Given the description of an element on the screen output the (x, y) to click on. 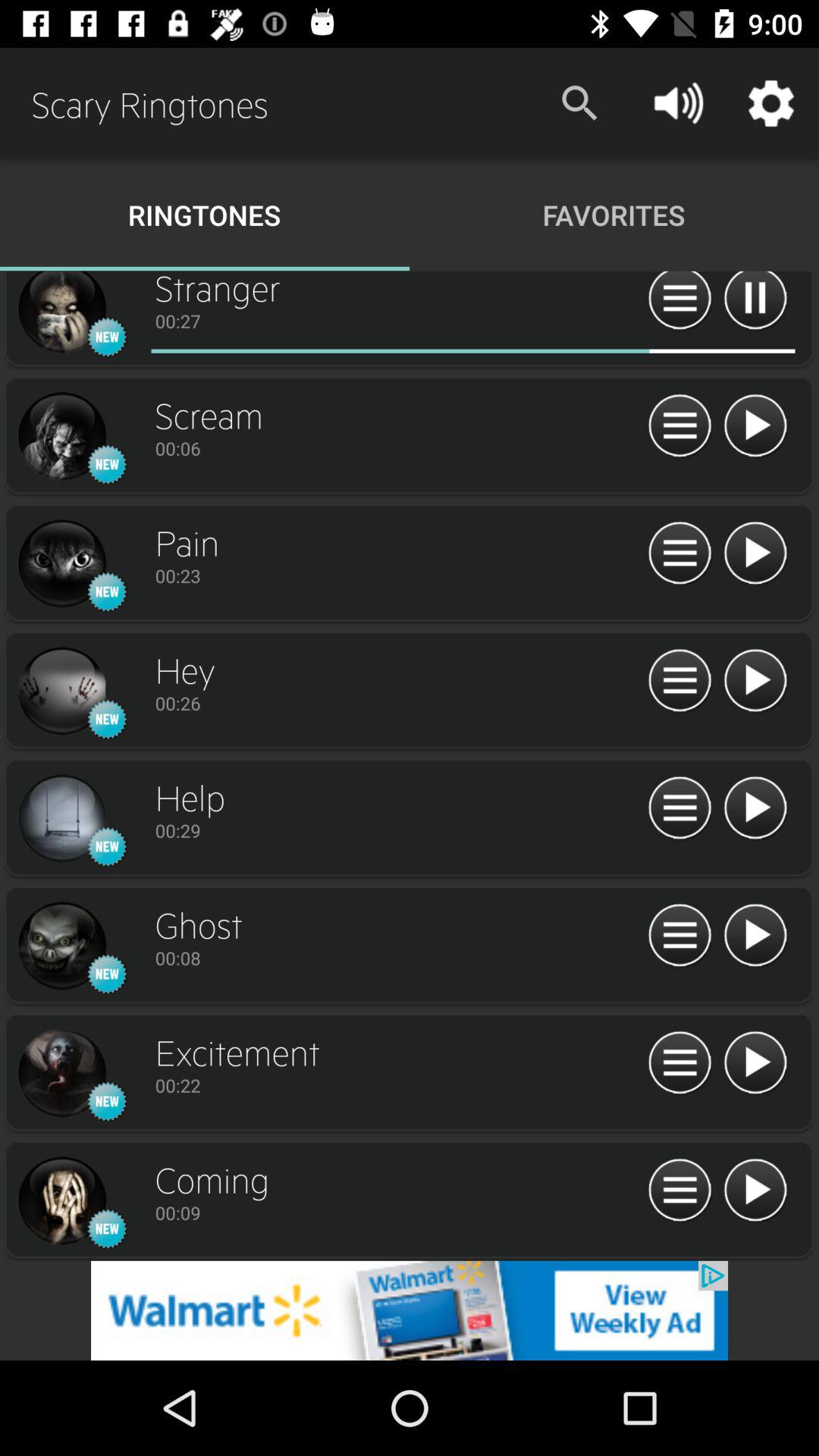
open menu (679, 1063)
